Given the description of an element on the screen output the (x, y) to click on. 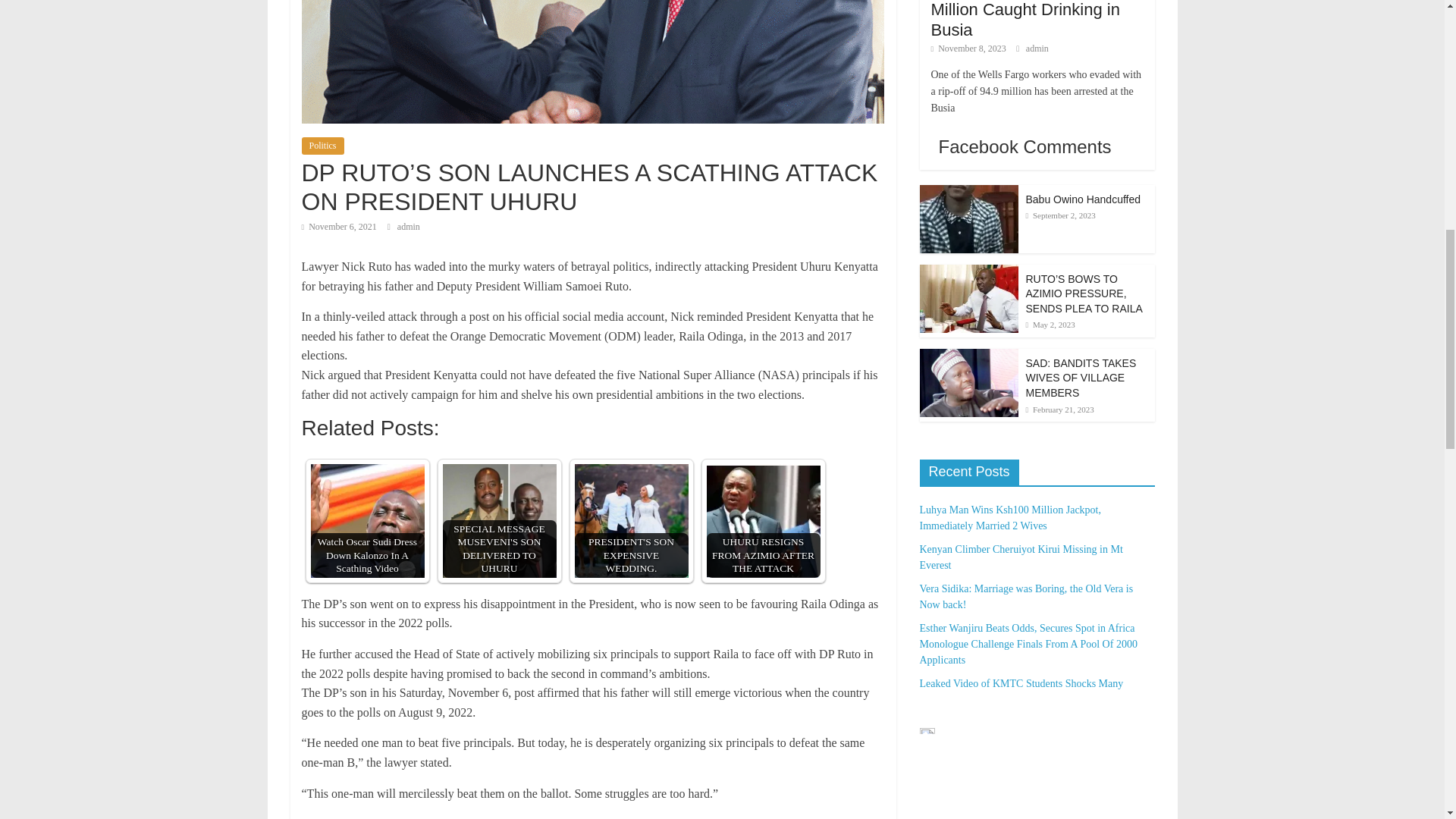
Watch Oscar Sudi Dress Down Kalonzo In A Scathing Video (368, 521)
Watch Oscar Sudi Dress Down Kalonzo In A Scathing Video (368, 521)
admin (408, 226)
5:16 am (339, 226)
UHURU RESIGNS FROM AZIMIO AFTER THE ATTACK (763, 521)
admin (408, 226)
UHURU RESIGNS FROM AZIMIO AFTER THE ATTACK (763, 521)
SPECIAL MESSAGE MUSEVENI'S SON DELIVERED TO UHURU (499, 521)
PRESIDENT'S SON EXPENSIVE WEDDING. (631, 521)
SPECIAL MESSAGE MUSEVENI'S SON DELIVERED TO UHURU (499, 521)
Politics (322, 145)
PRESIDENT'S SON EXPENSIVE WEDDING. (631, 521)
November 6, 2021 (339, 226)
